Given the description of an element on the screen output the (x, y) to click on. 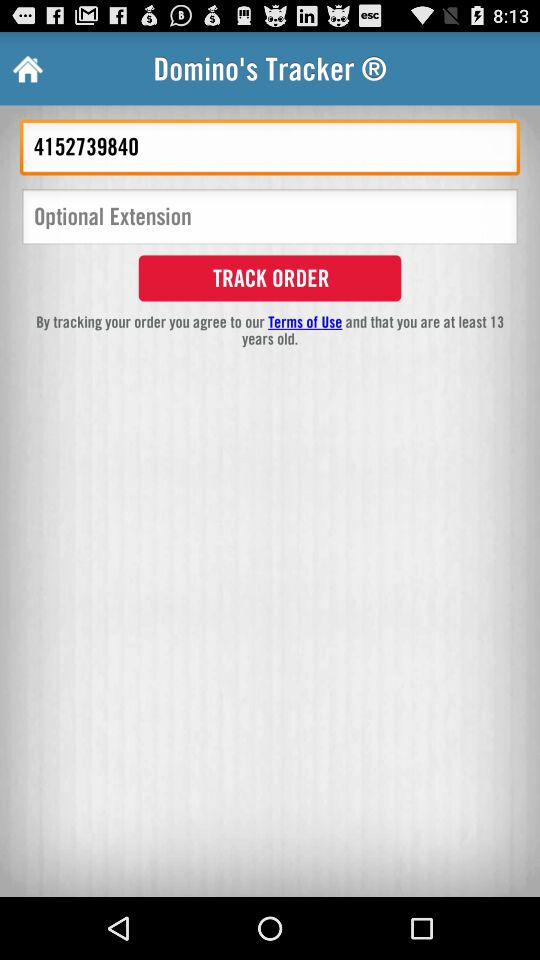
add optional extension (269, 218)
